Given the description of an element on the screen output the (x, y) to click on. 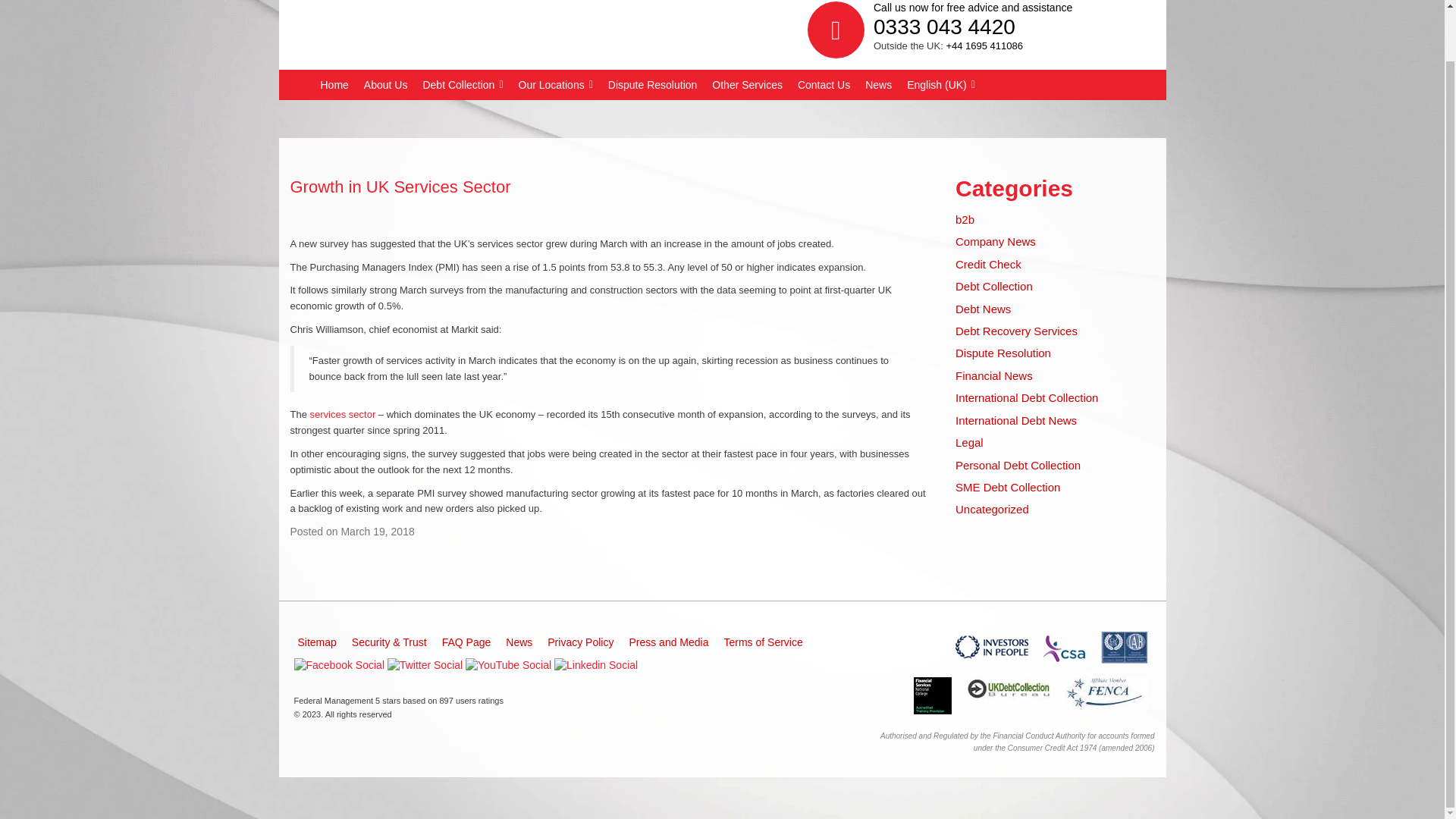
YouTube Icon (508, 665)
Five Stars on Trust Pilot (931, 695)
Credit Check (988, 264)
Debt Collection (462, 84)
Dispute Resolution (651, 84)
Federation of European National Collection Associations (1105, 693)
Investors in People (1123, 647)
0333 043 4420 (943, 26)
b2b (964, 219)
About Us (385, 84)
Other Services (747, 84)
Contact Us (823, 84)
Debt News (982, 308)
LinkedIn Icon (595, 665)
